Given the description of an element on the screen output the (x, y) to click on. 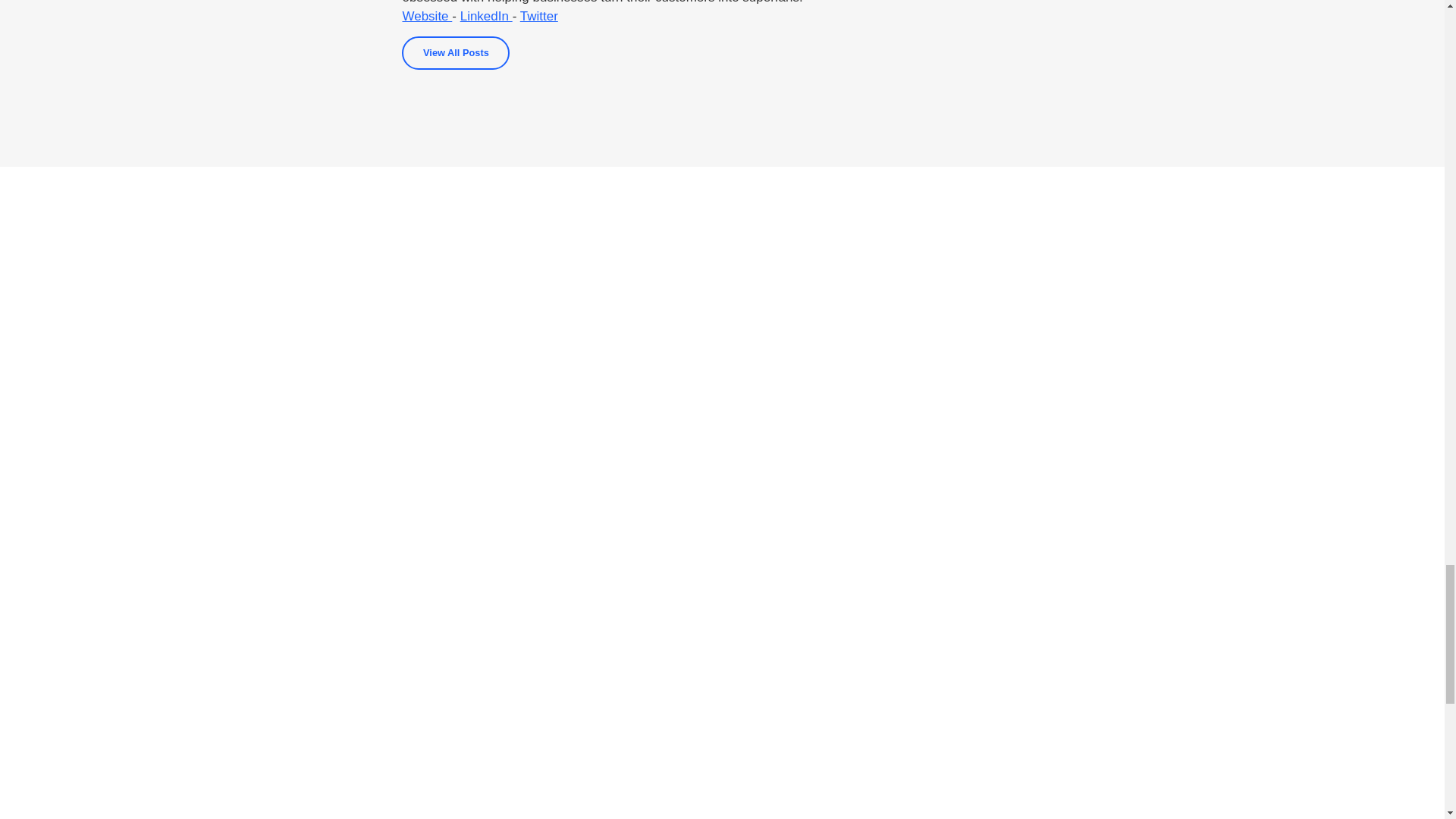
Website (426, 16)
LinkedIn (486, 16)
